Given the description of an element on the screen output the (x, y) to click on. 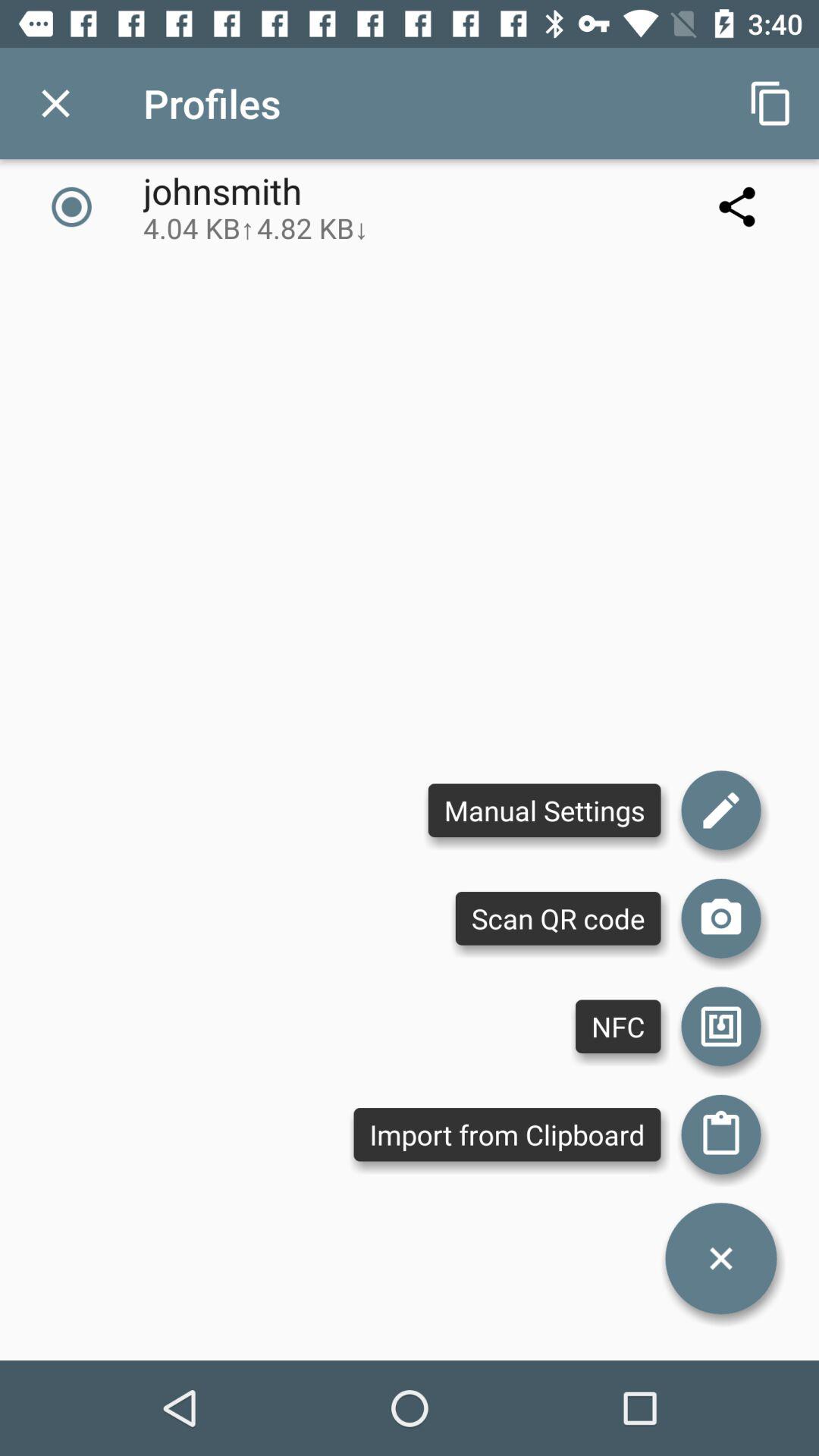
manual setting option (721, 810)
